Given the description of an element on the screen output the (x, y) to click on. 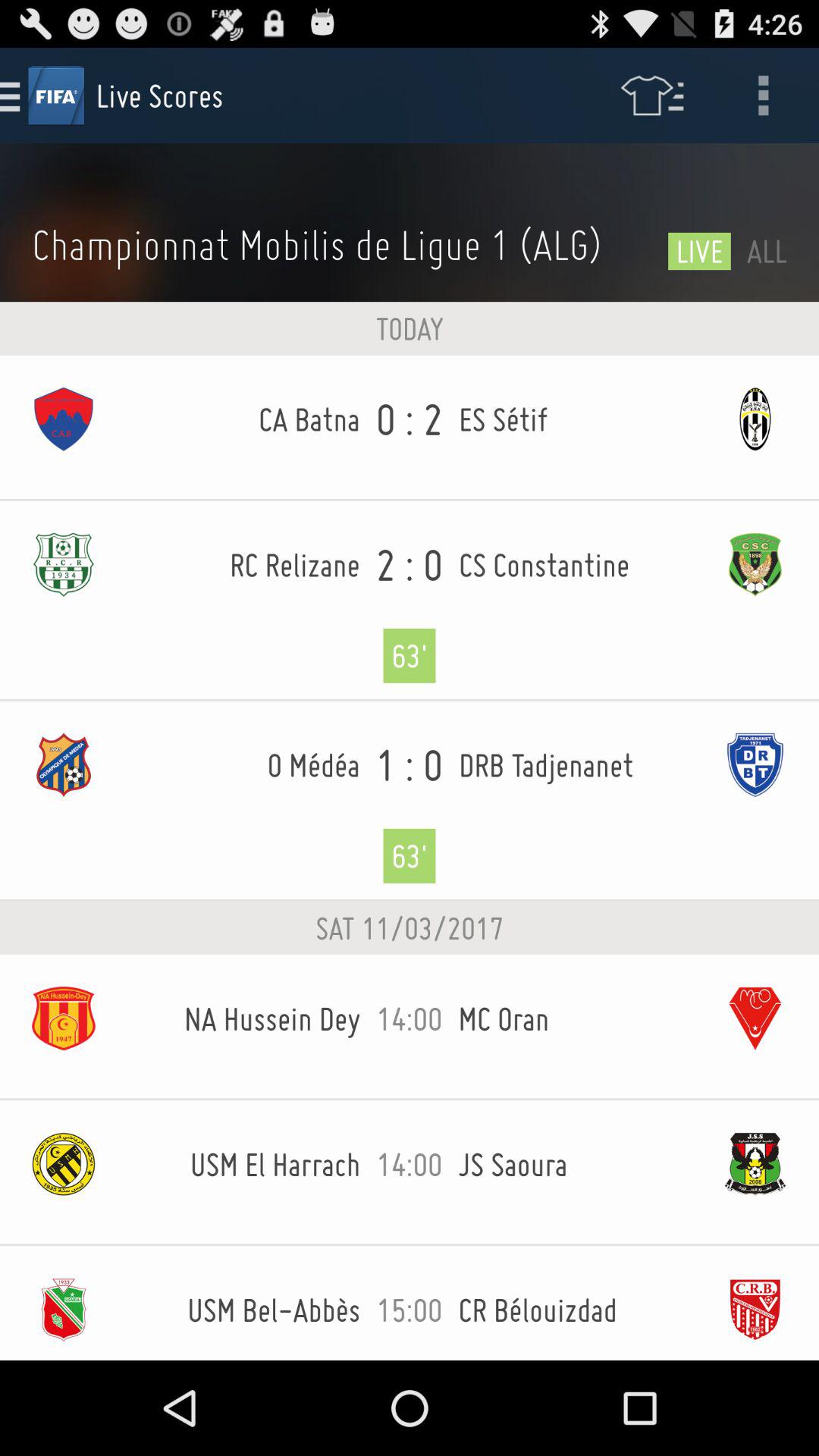
select item below the sat 11 03 (409, 1027)
